Given the description of an element on the screen output the (x, y) to click on. 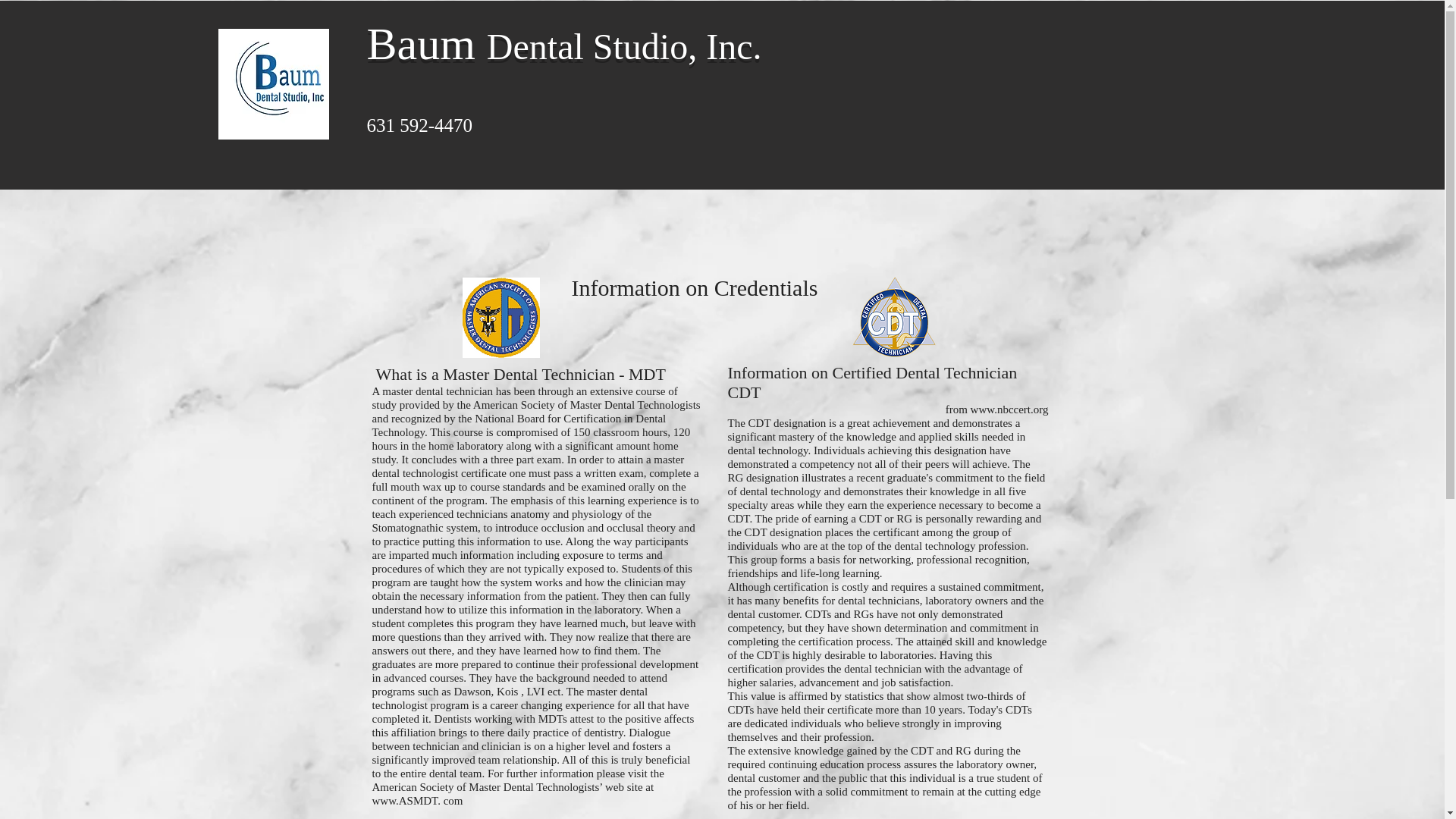
www.ASMDT (404, 800)
www.nbccert.org (1009, 409)
